Given the description of an element on the screen output the (x, y) to click on. 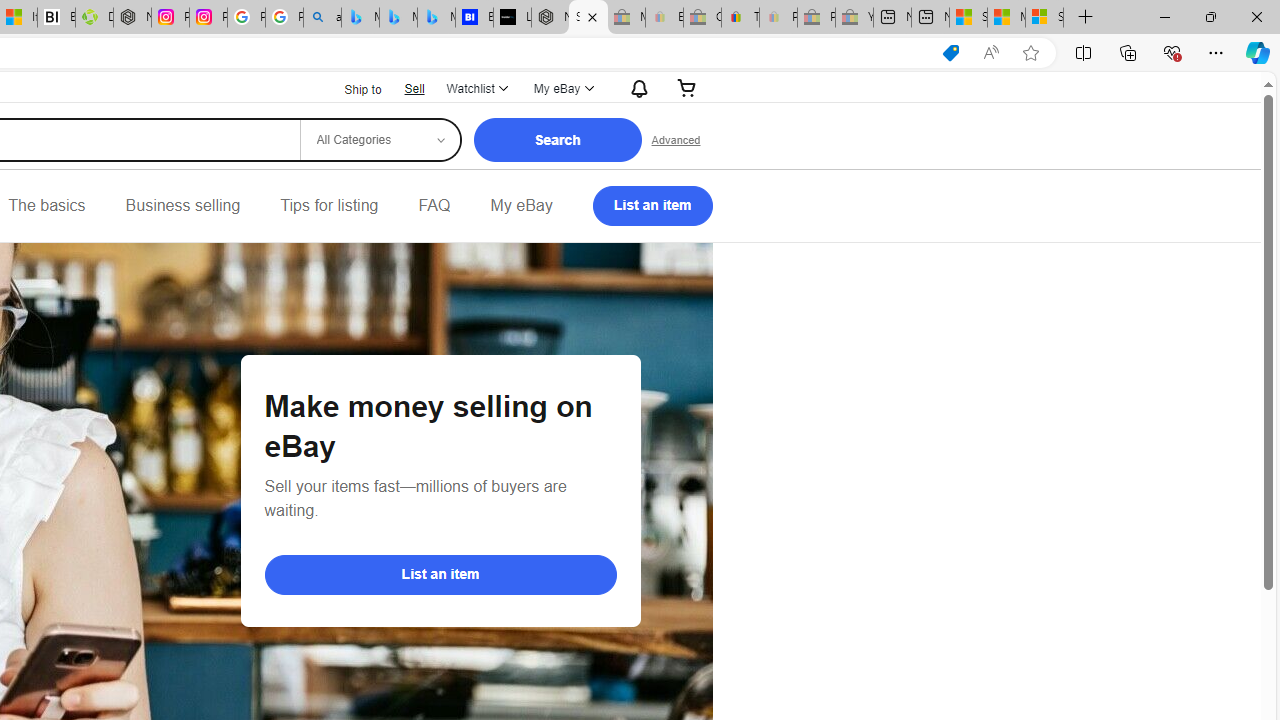
List an item (439, 574)
The basics (46, 205)
Ship to (349, 89)
Watchlist (476, 88)
Sell (413, 87)
Microsoft Bing Travel - Shangri-La Hotel Bangkok (436, 17)
Business selling (182, 205)
